Given the description of an element on the screen output the (x, y) to click on. 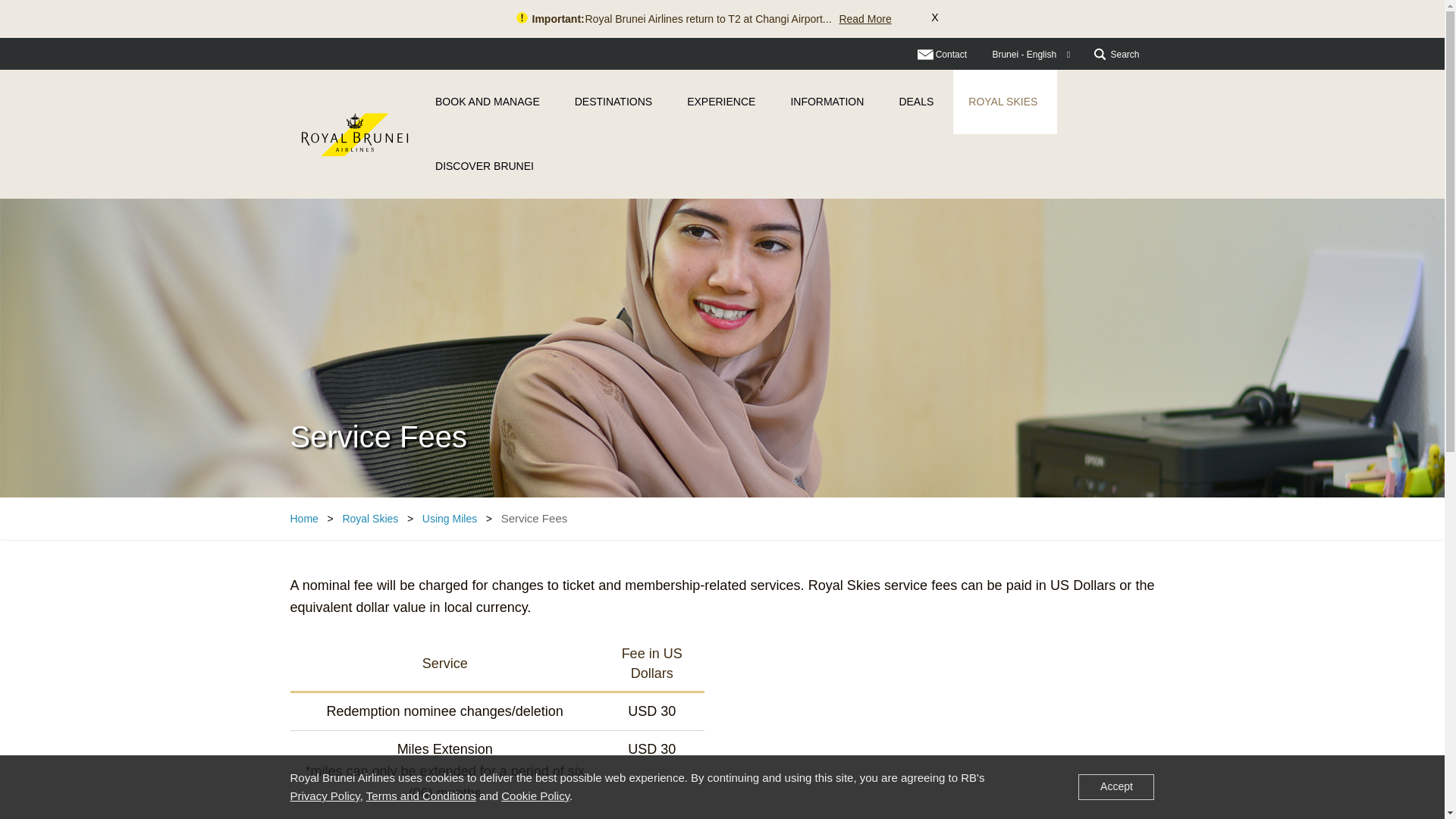
DESTINATIONS (615, 101)
BOOK AND MANAGE (489, 101)
Brunei - English (1030, 54)
Contact (941, 54)
